Given the description of an element on the screen output the (x, y) to click on. 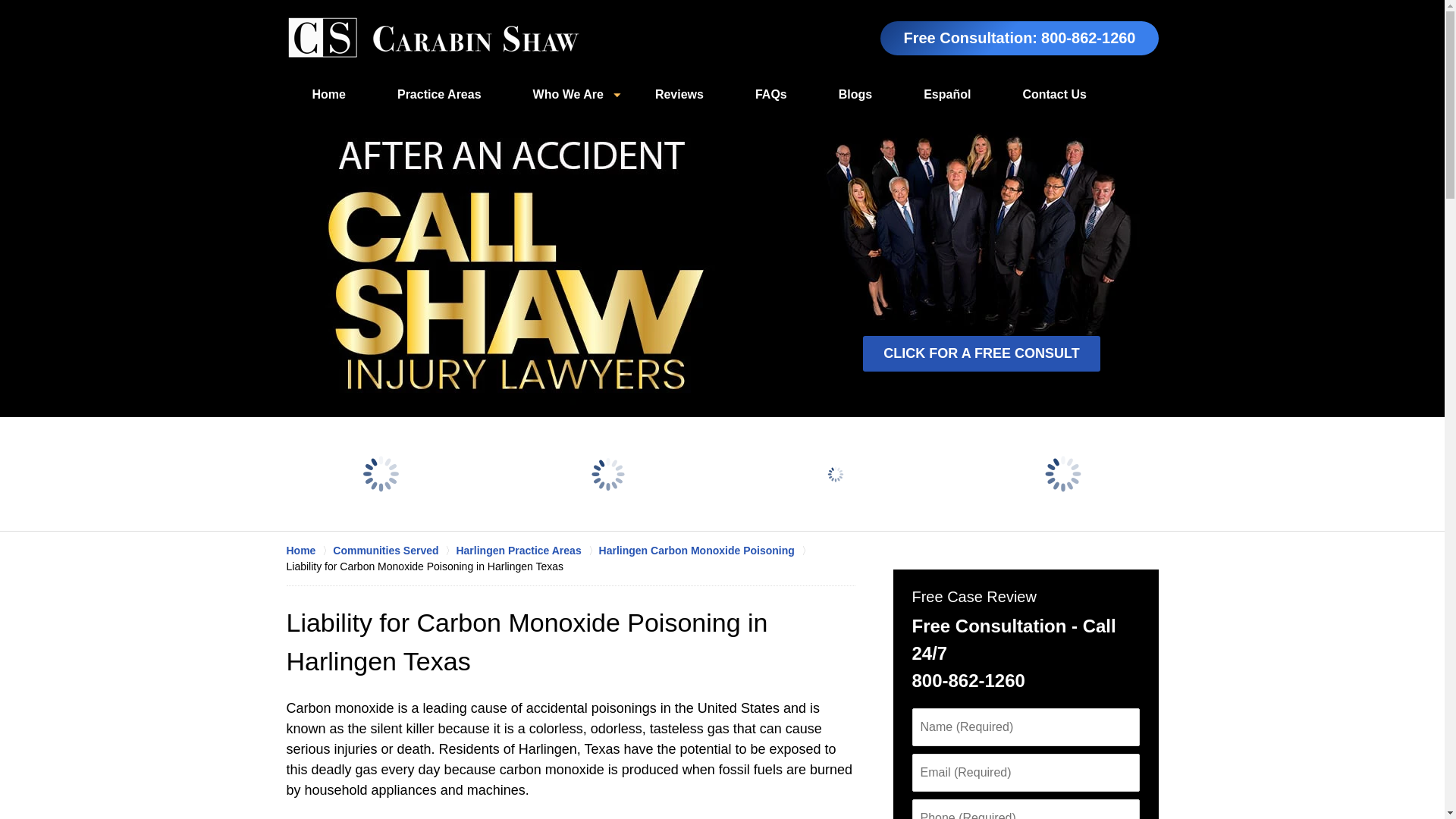
Free Consultation: 800-862-1260 (1018, 38)
Reviews (678, 94)
Home (309, 550)
Blogs (855, 94)
Harlingen Practice Areas (526, 550)
Back to Home (432, 37)
CLICK FOR A FREE CONSULT (981, 353)
FAQs (770, 94)
Practice Areas (438, 94)
Who We Are (567, 94)
